Given the description of an element on the screen output the (x, y) to click on. 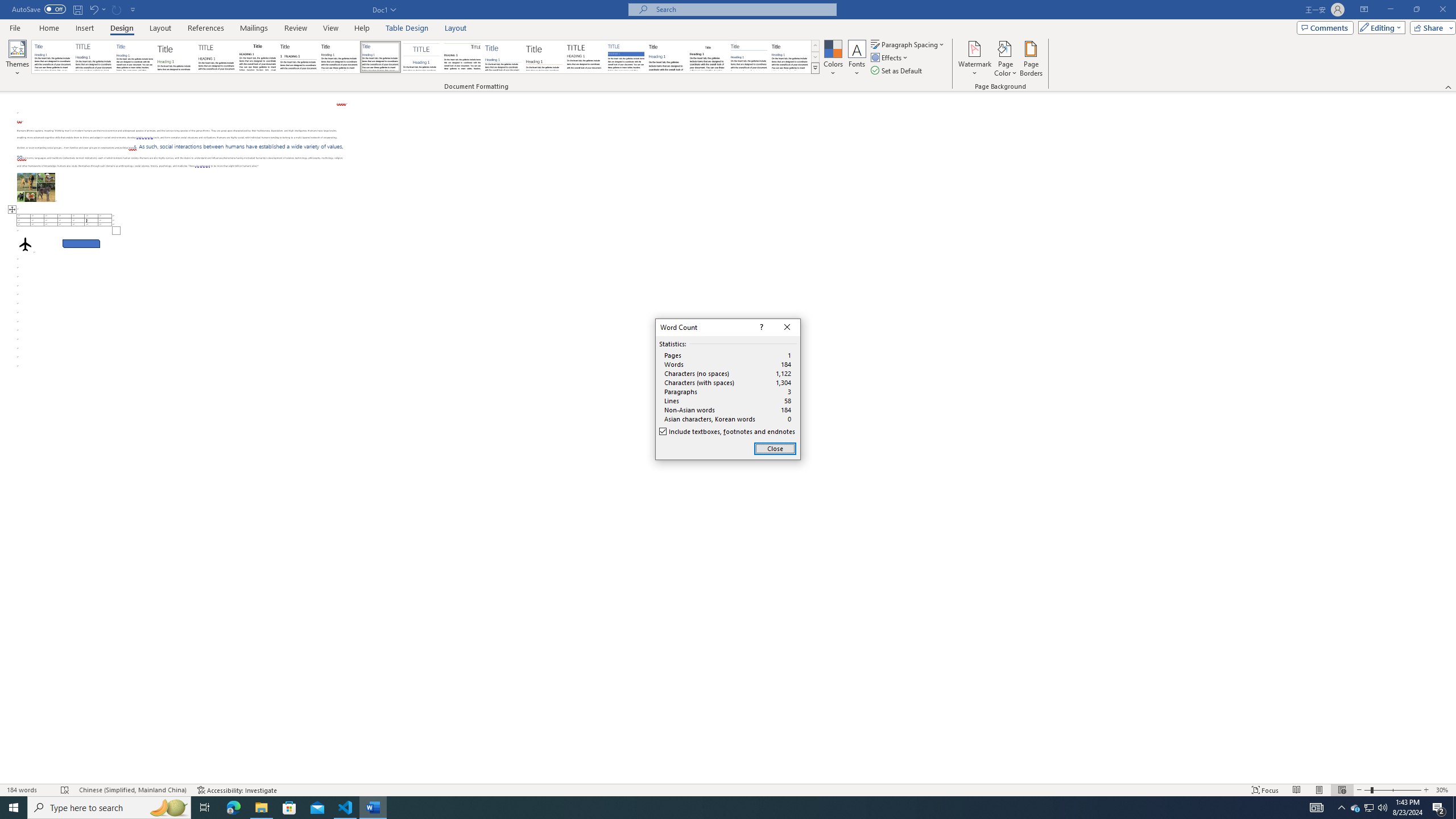
Mailings (253, 28)
Quick Access Toolbar (74, 9)
Print Layout (1318, 790)
Themes (17, 58)
Class: NetUIImage (815, 68)
Basic (Simple) (135, 56)
Can't Repeat (117, 9)
Table Design (407, 28)
Word - 1 running window (373, 807)
Customize Quick Access Toolbar (133, 9)
Zoom In (1426, 790)
Black & White (Numbered) (298, 56)
Style Set (814, 67)
Page Borders... (1031, 58)
Black & White (Word 2013) (338, 56)
